Given the description of an element on the screen output the (x, y) to click on. 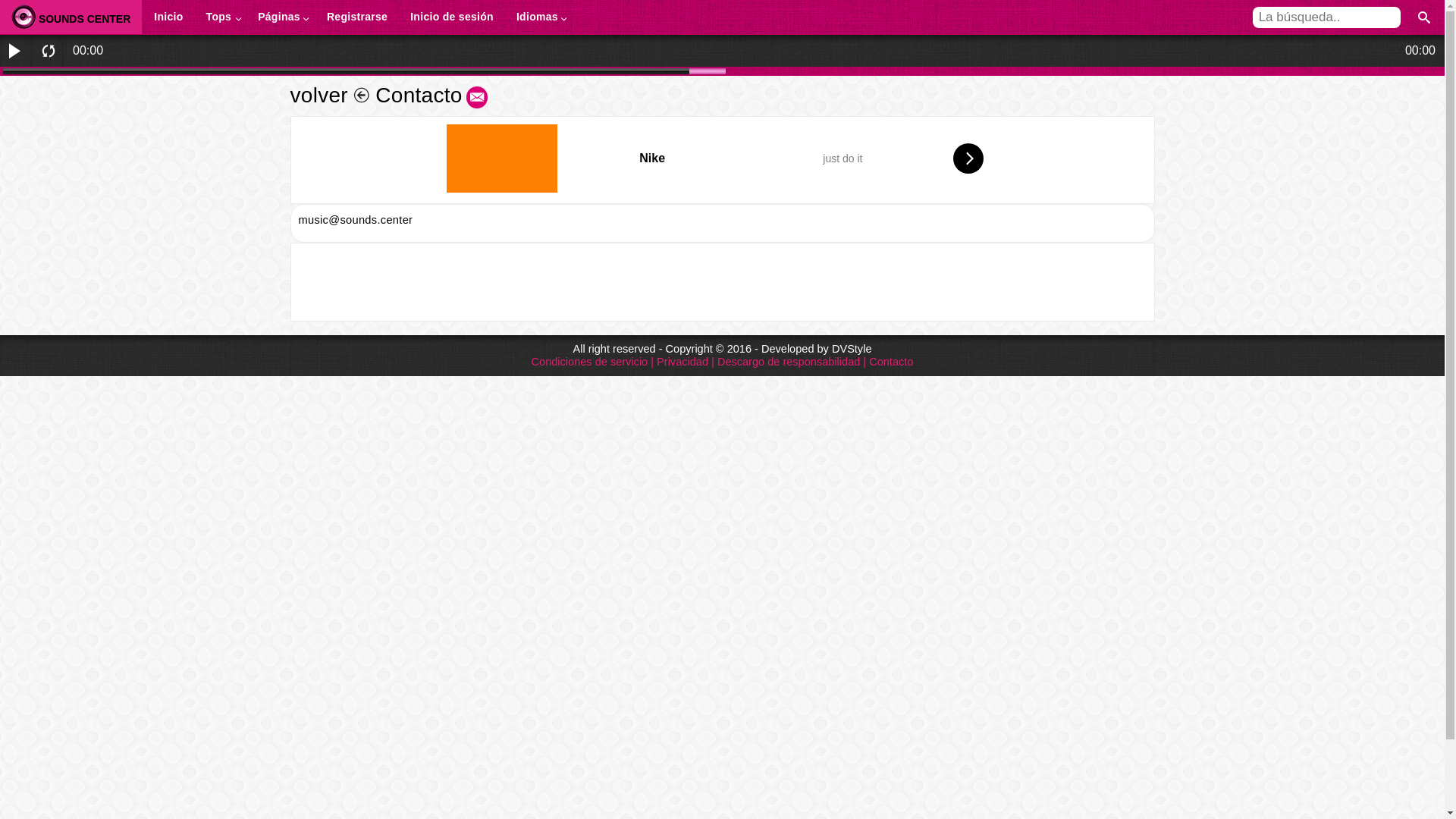
Descargo de responsabilidad Element type: text (788, 361)
Condiciones de servicio Element type: text (589, 361)
Idiomas Element type: text (539, 17)
Contacto Element type: text (891, 361)
SOUNDS CENTER Element type: text (70, 17)
Privacidad Element type: text (682, 361)
Tops Element type: text (220, 17)
volver Element type: text (329, 94)
Inicio Element type: text (168, 17)
Registrarse Element type: text (356, 17)
DVStyle Element type: text (851, 348)
